Given the description of an element on the screen output the (x, y) to click on. 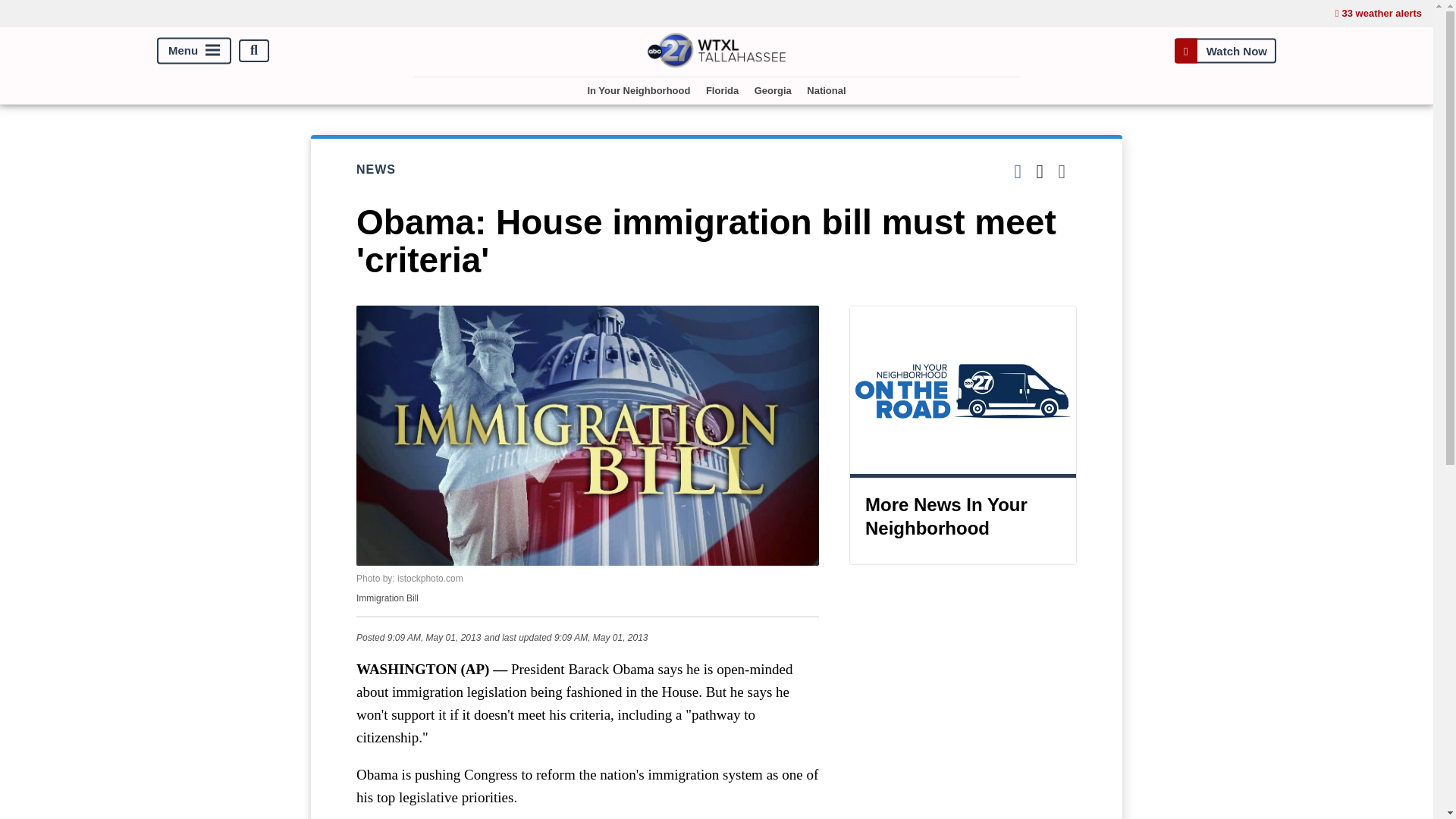
Watch Now (1224, 50)
Menu (194, 49)
